Given the description of an element on the screen output the (x, y) to click on. 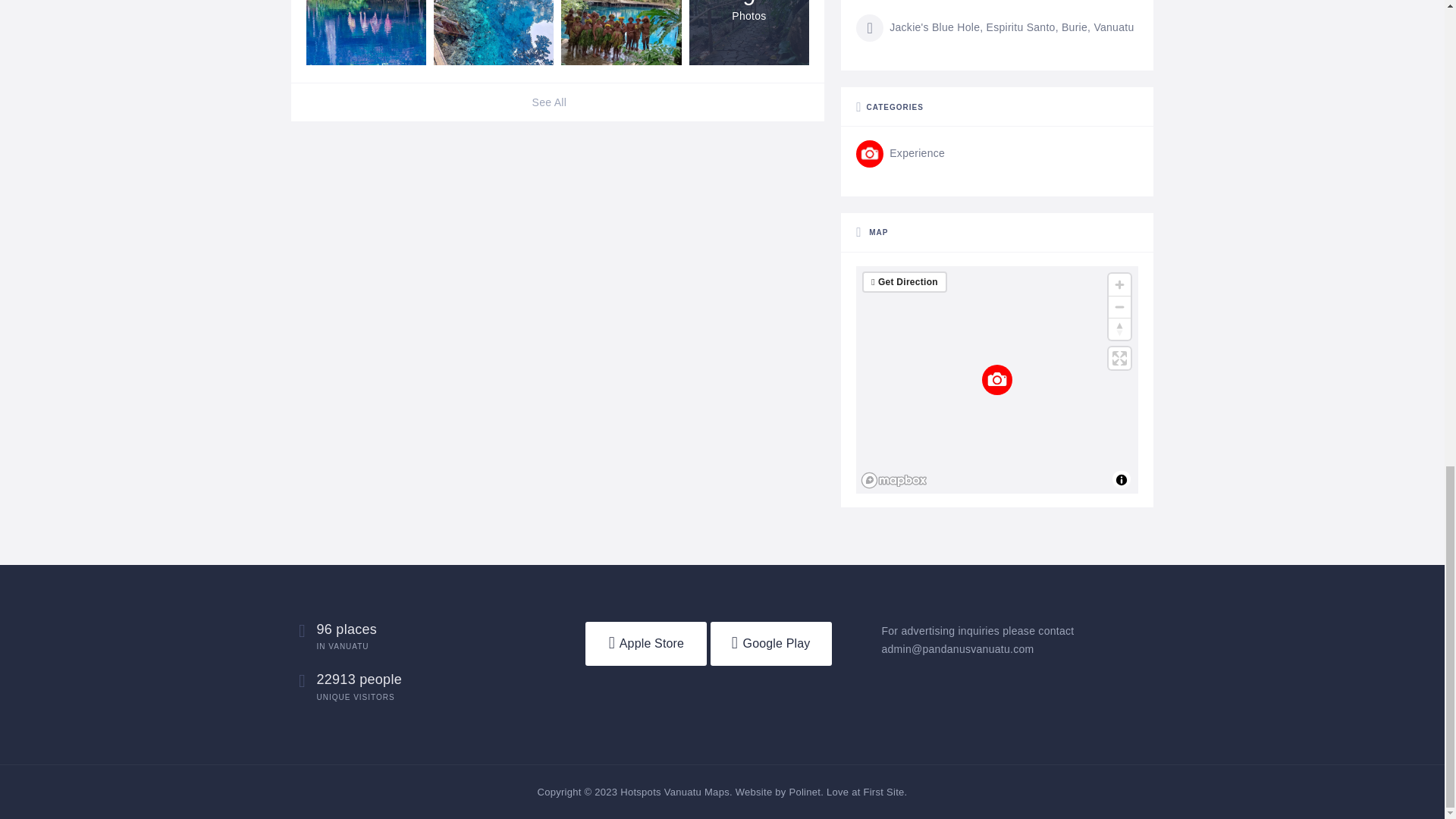
Zoom out (1119, 306)
Experience (900, 153)
Enter fullscreen (1119, 358)
Zoom in (1119, 284)
Jackie's Blue Hole, Espiritu Santo, Burie, Vanuatu (995, 27)
Experience (900, 153)
Get Direction (907, 281)
Reset bearing to north (1119, 328)
Toggle attribution (1121, 479)
See All (558, 102)
